Given the description of an element on the screen output the (x, y) to click on. 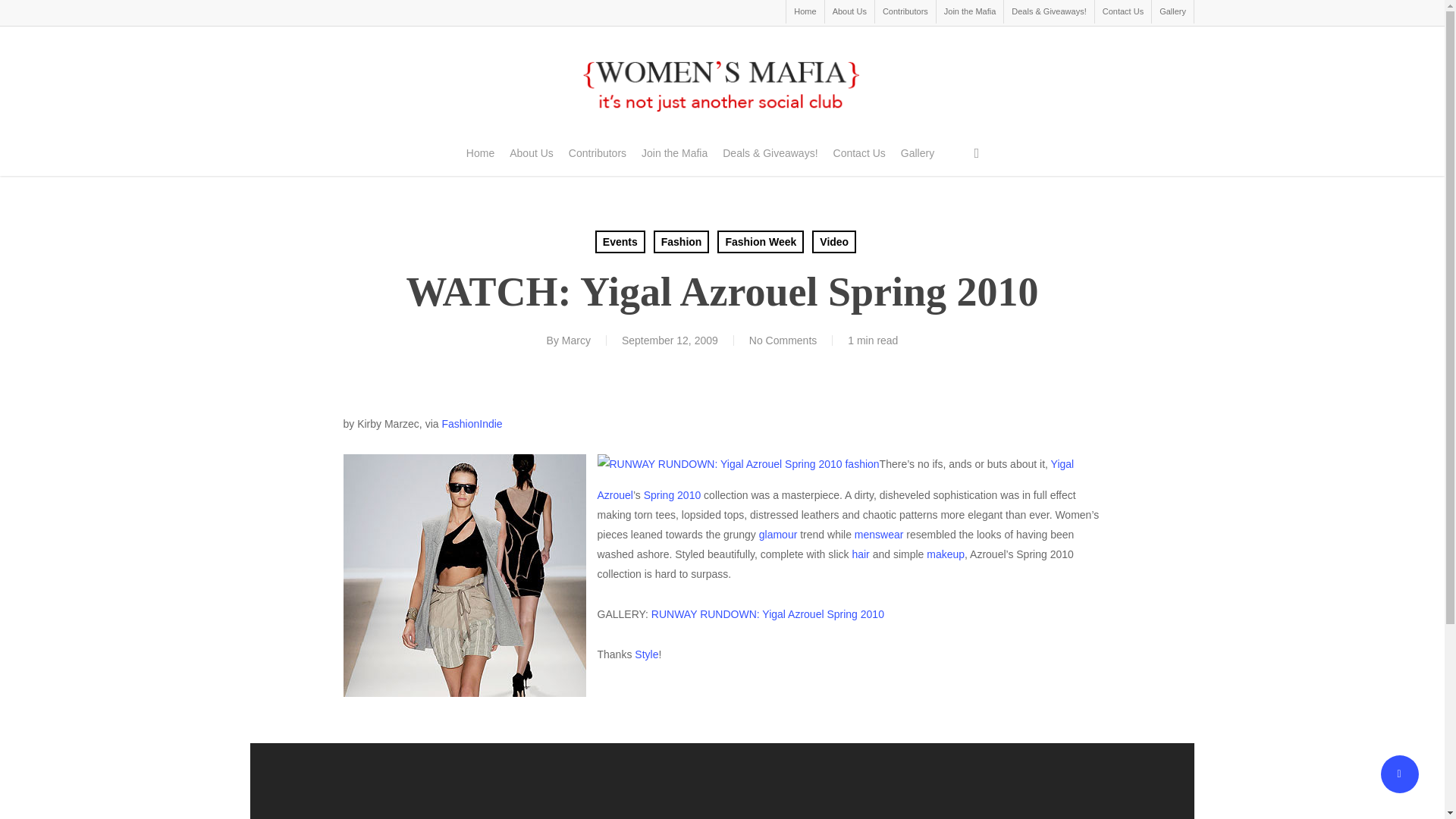
00100m (737, 464)
Contributors (905, 11)
Contact Us (1122, 11)
Home (480, 152)
makeup (944, 553)
menswear (879, 534)
Gallery (1172, 11)
Yigal (463, 575)
Spring 2010 (672, 494)
Home (805, 11)
glamour (777, 534)
About Us (531, 152)
About Us (849, 11)
Contributors (597, 152)
Posts by Marcy (576, 340)
